Given the description of an element on the screen output the (x, y) to click on. 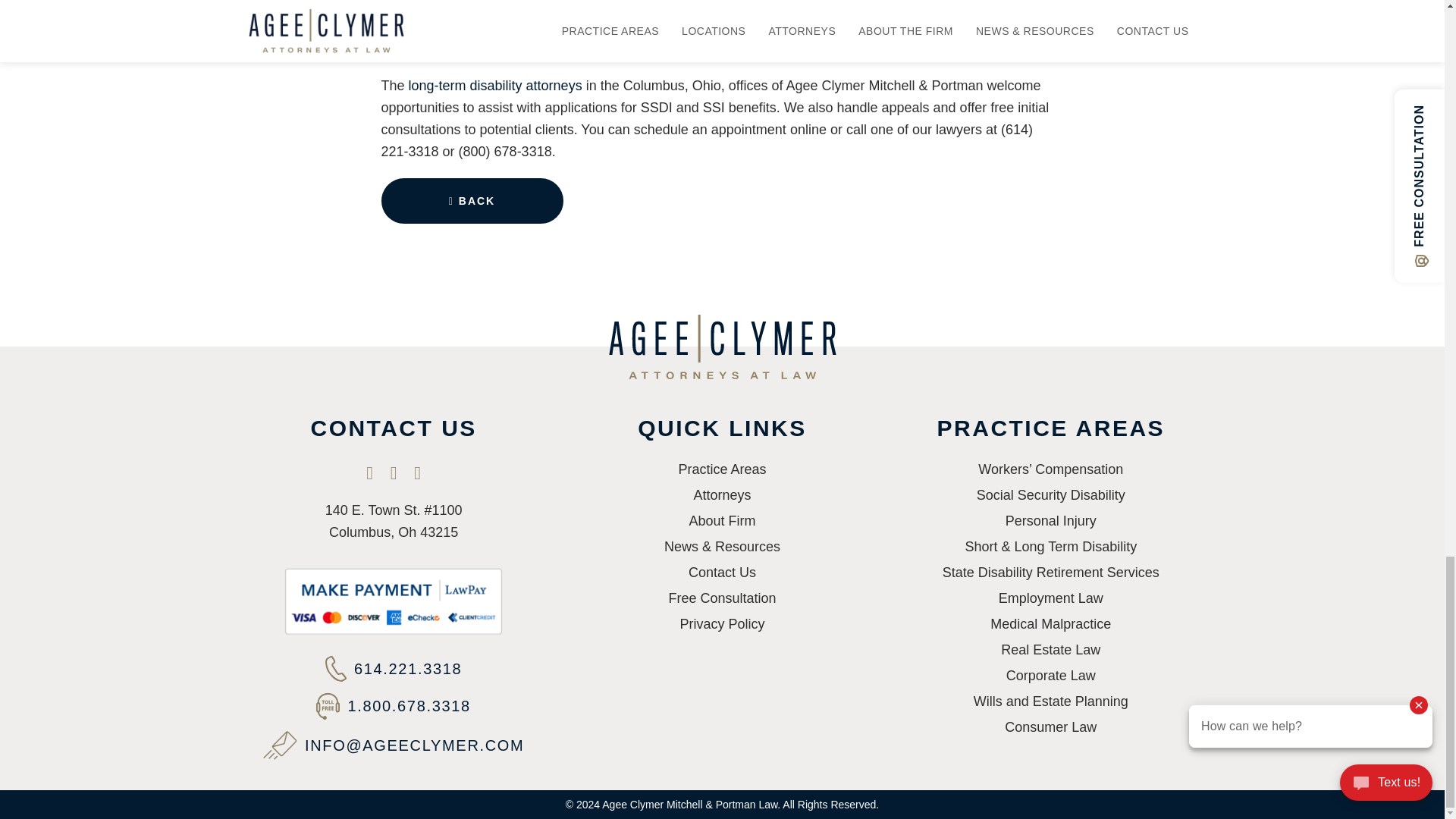
long-term disability attorneys (495, 85)
BACK (471, 201)
